Given the description of an element on the screen output the (x, y) to click on. 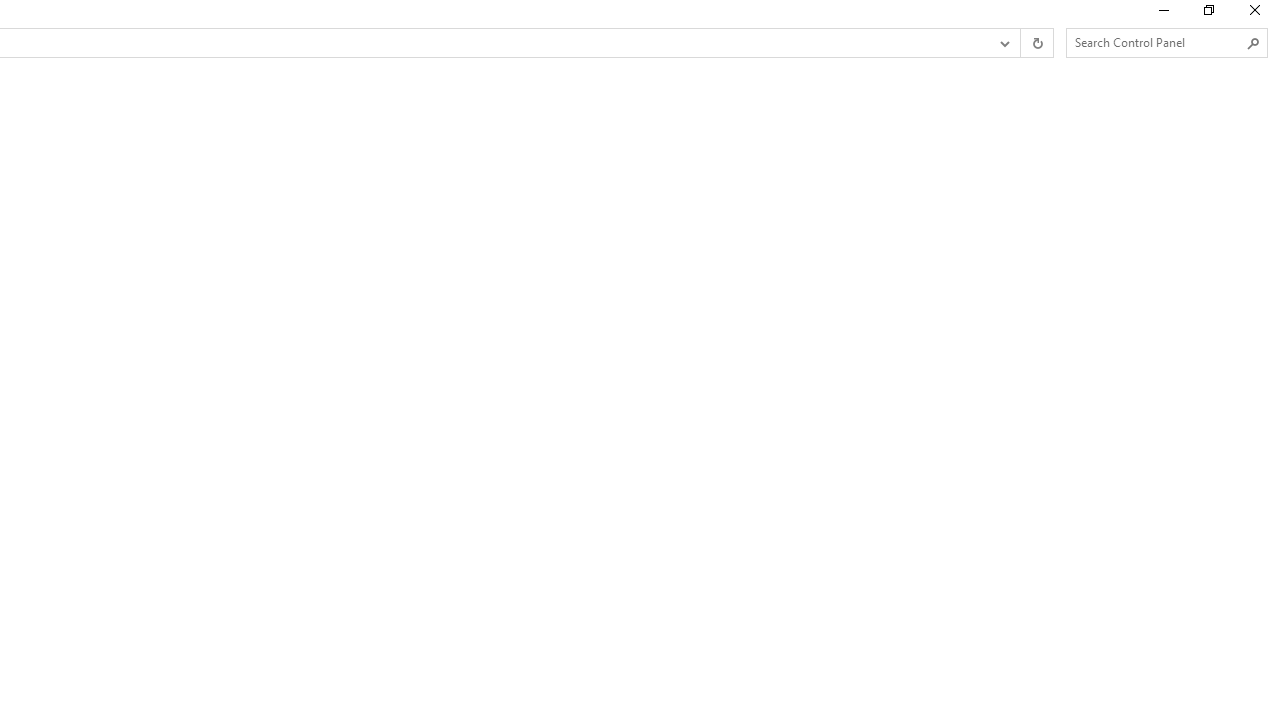
Restore (1208, 14)
Minimize (1162, 14)
Refresh "Appearance and Personalization" (F5) (1036, 43)
Previous Locations (1003, 43)
Search (1253, 43)
Search Box (1156, 42)
Address band toolbar (1019, 43)
